Given the description of an element on the screen output the (x, y) to click on. 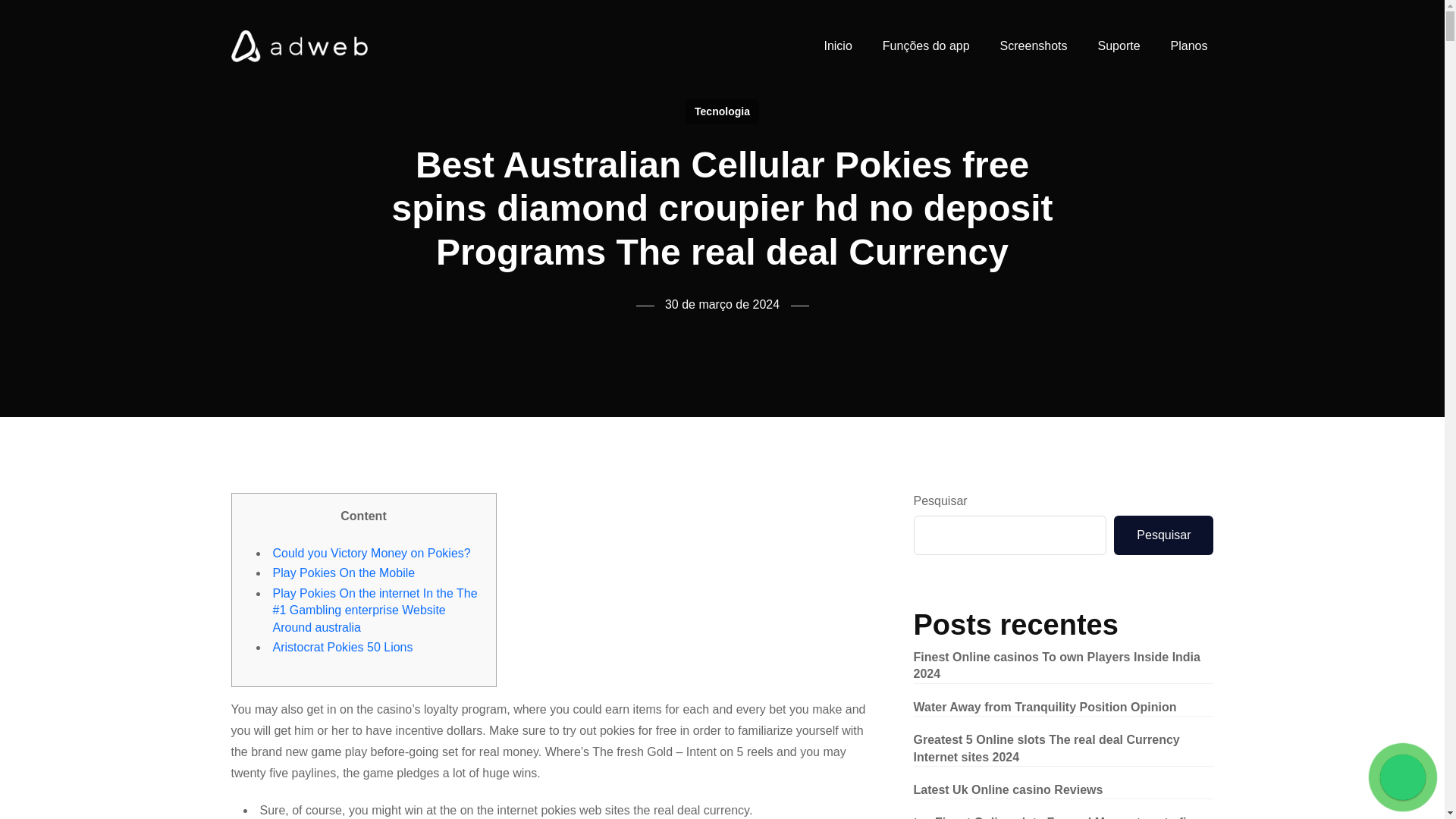
Water Away from Tranquility Position Opinion (1044, 707)
Suporte (1119, 45)
Inicio (837, 45)
Finest Online casinos To own Players Inside India 2024 (1055, 665)
Pesquisar (1162, 535)
Screenshots (1034, 45)
Aristocrat Pokies 50 Lions (343, 646)
Tecnologia (721, 111)
Could you Victory Money on Pokies? (371, 553)
Planos (1189, 45)
Latest Uk Online casino Reviews (1007, 789)
Play Pokies On the Mobile (343, 572)
